Given the description of an element on the screen output the (x, y) to click on. 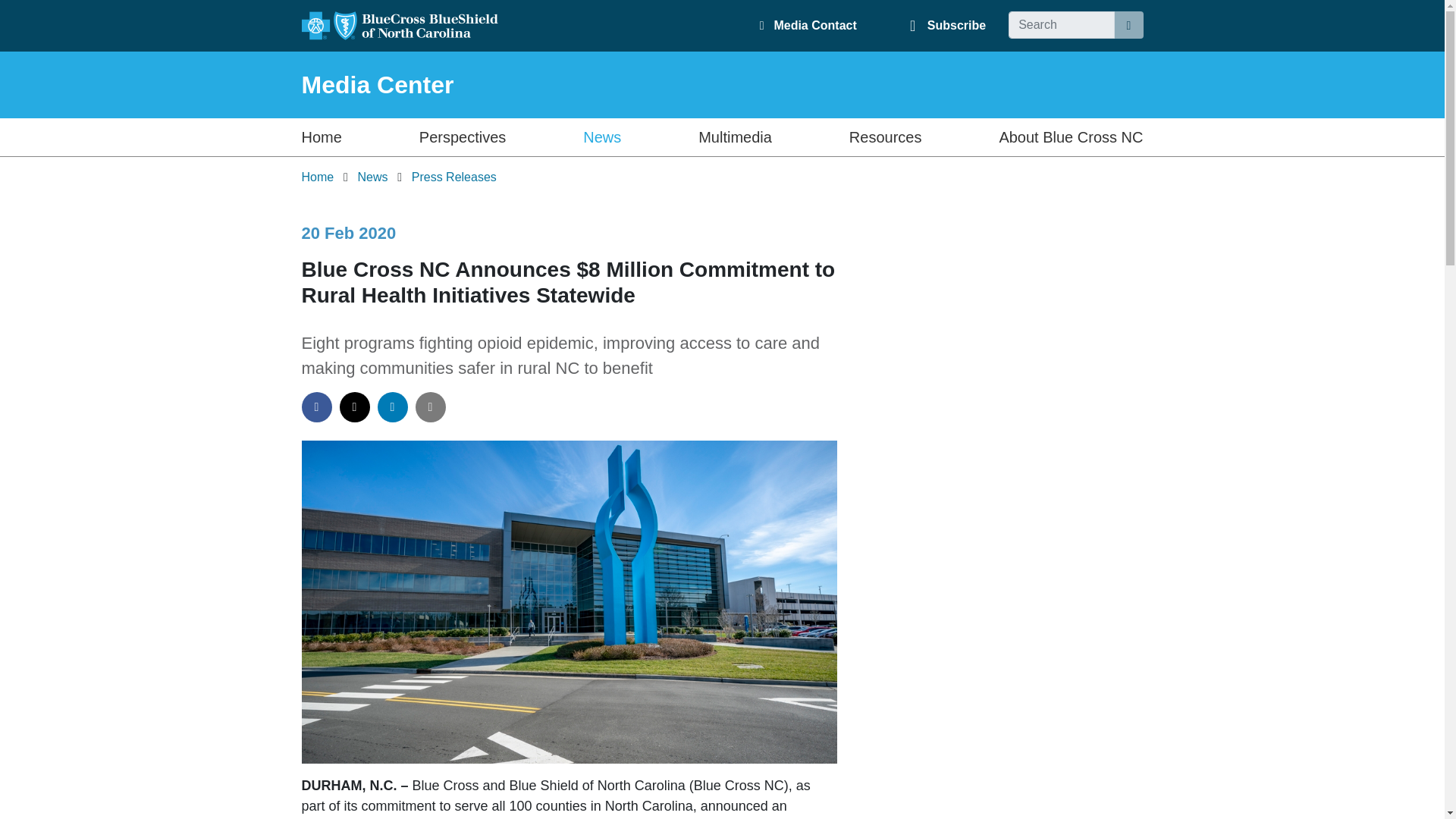
LinkedIn (392, 407)
About Blue Cross NC (1070, 136)
Facebook (316, 407)
Home (317, 176)
News (602, 136)
Email (429, 407)
Multimedia (734, 136)
Twitter (354, 407)
Subscribe (956, 24)
Resources (884, 136)
